Given the description of an element on the screen output the (x, y) to click on. 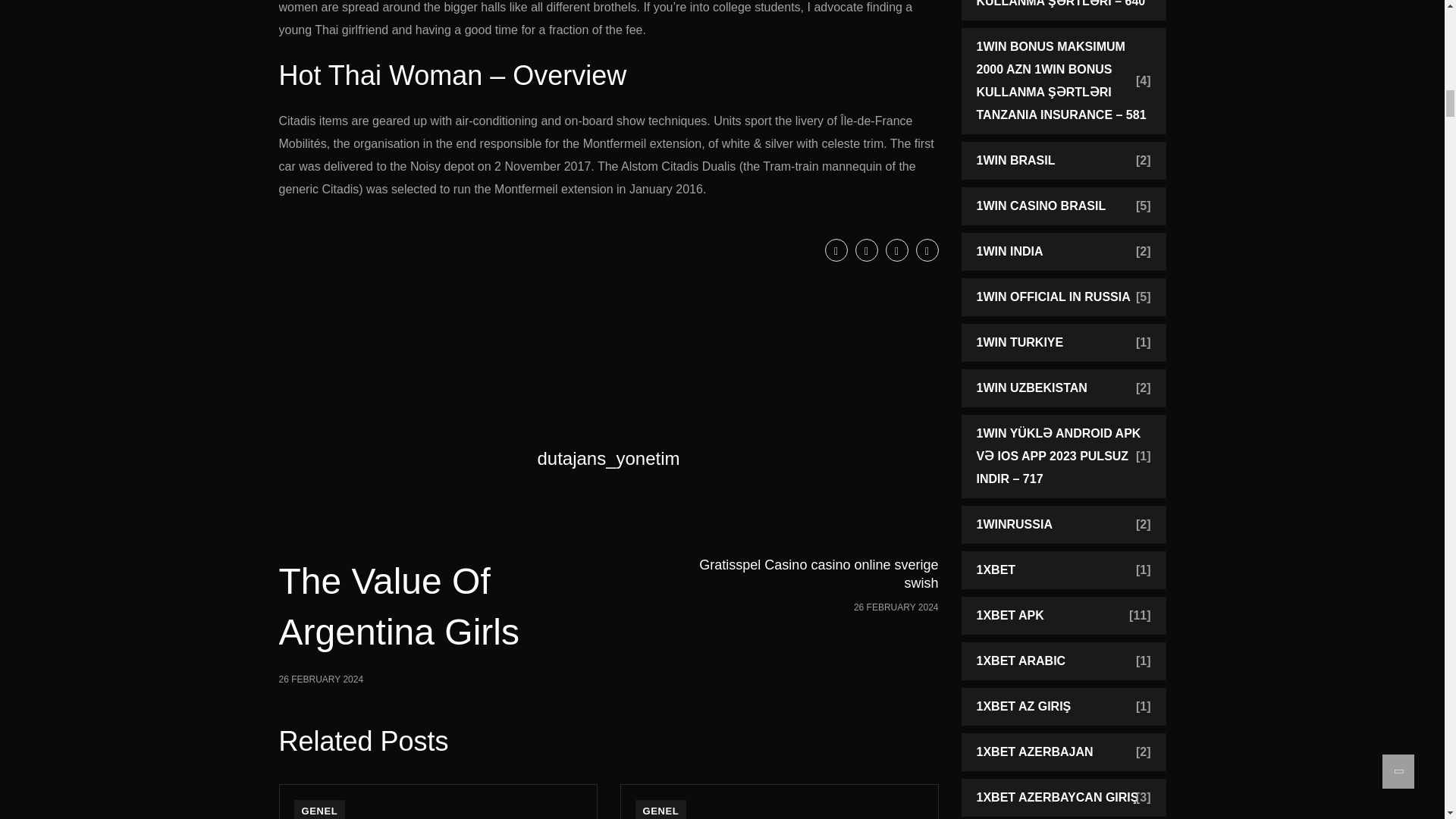
Pinterest (392, 620)
Facebook (896, 250)
GENEL (866, 250)
GENEL (320, 809)
LinkedIn (660, 809)
Twitter (927, 250)
